Given the description of an element on the screen output the (x, y) to click on. 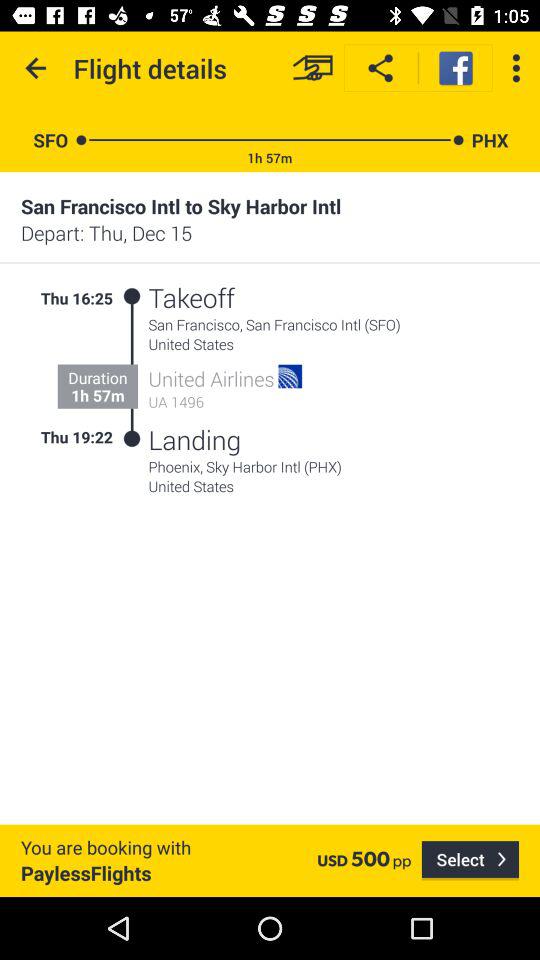
open the icon next to the flight details (36, 68)
